Given the description of an element on the screen output the (x, y) to click on. 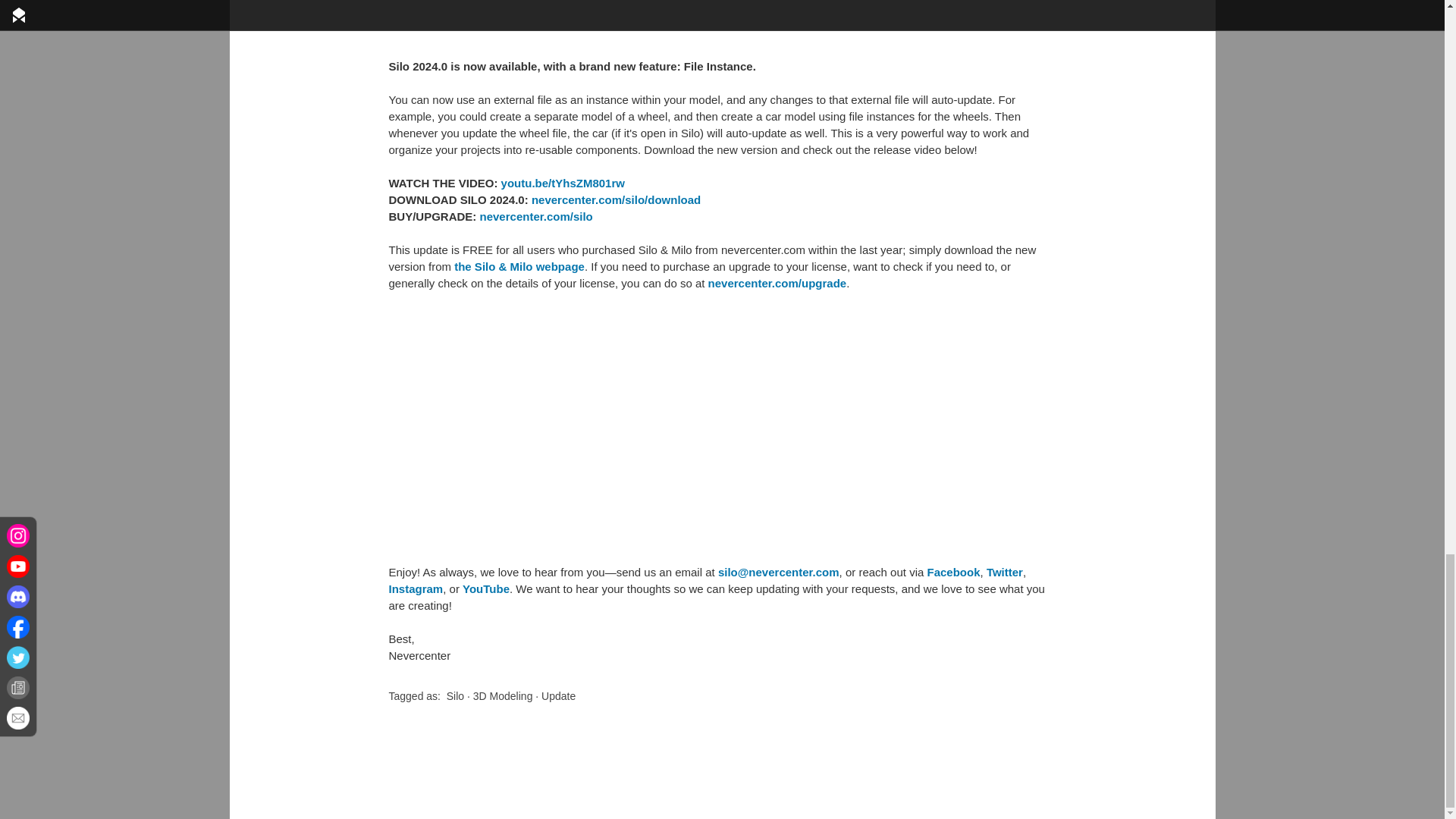
YouTube video player (600, 427)
